Given the description of an element on the screen output the (x, y) to click on. 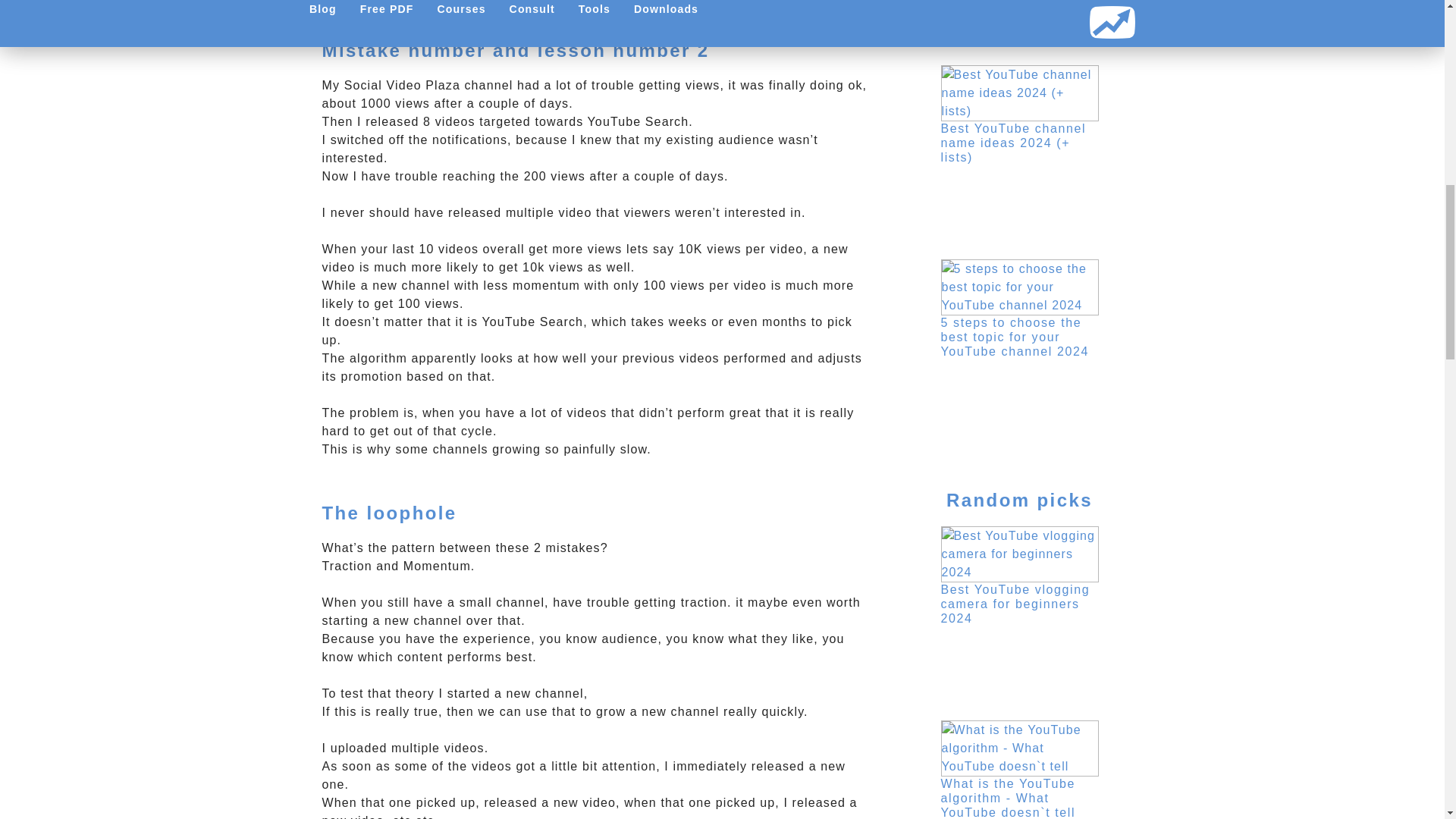
Best YouTube vlogging camera for beginners 2024 (1014, 603)
